Given the description of an element on the screen output the (x, y) to click on. 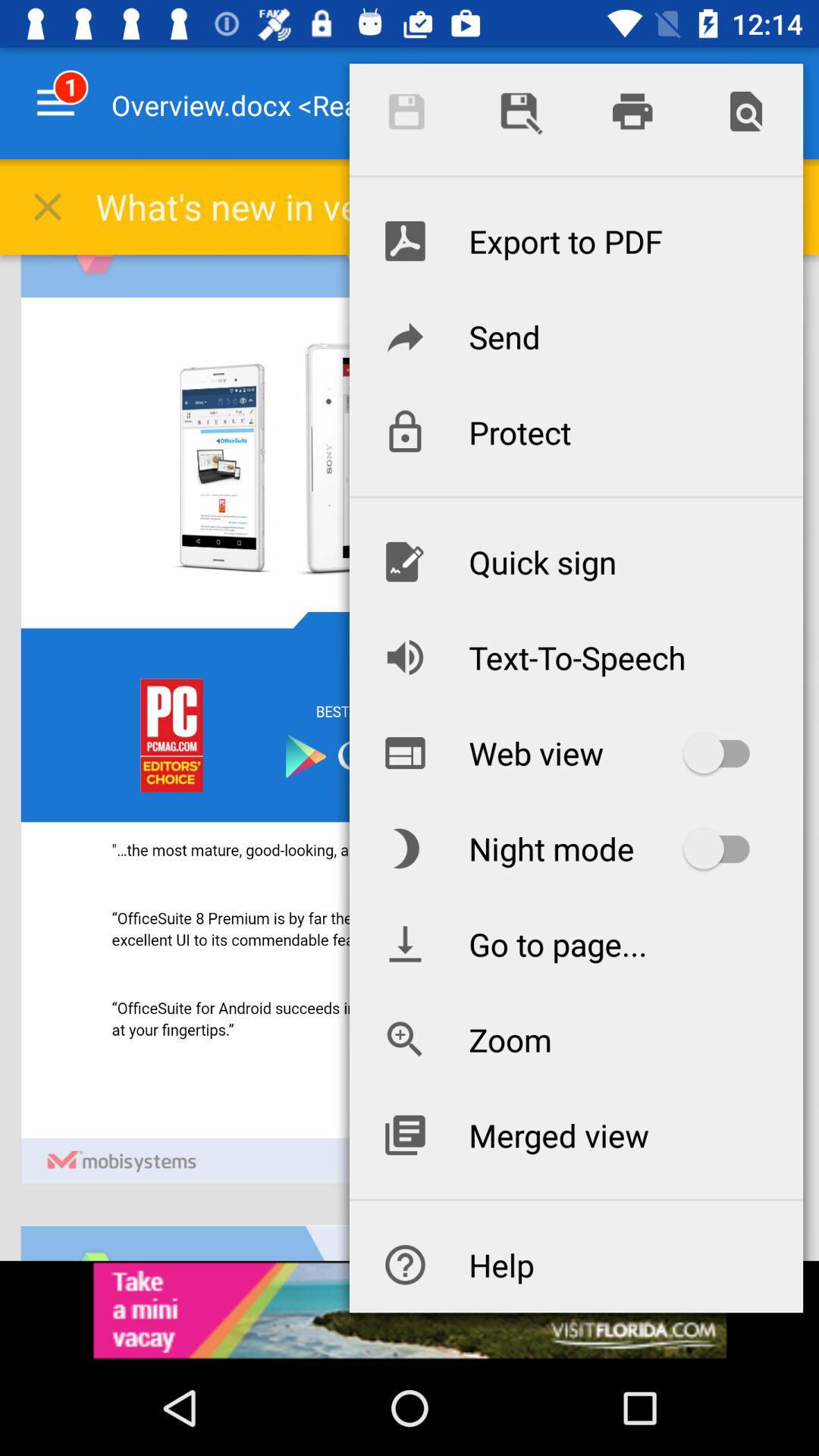
turn on merged view item (576, 1135)
